Given the description of an element on the screen output the (x, y) to click on. 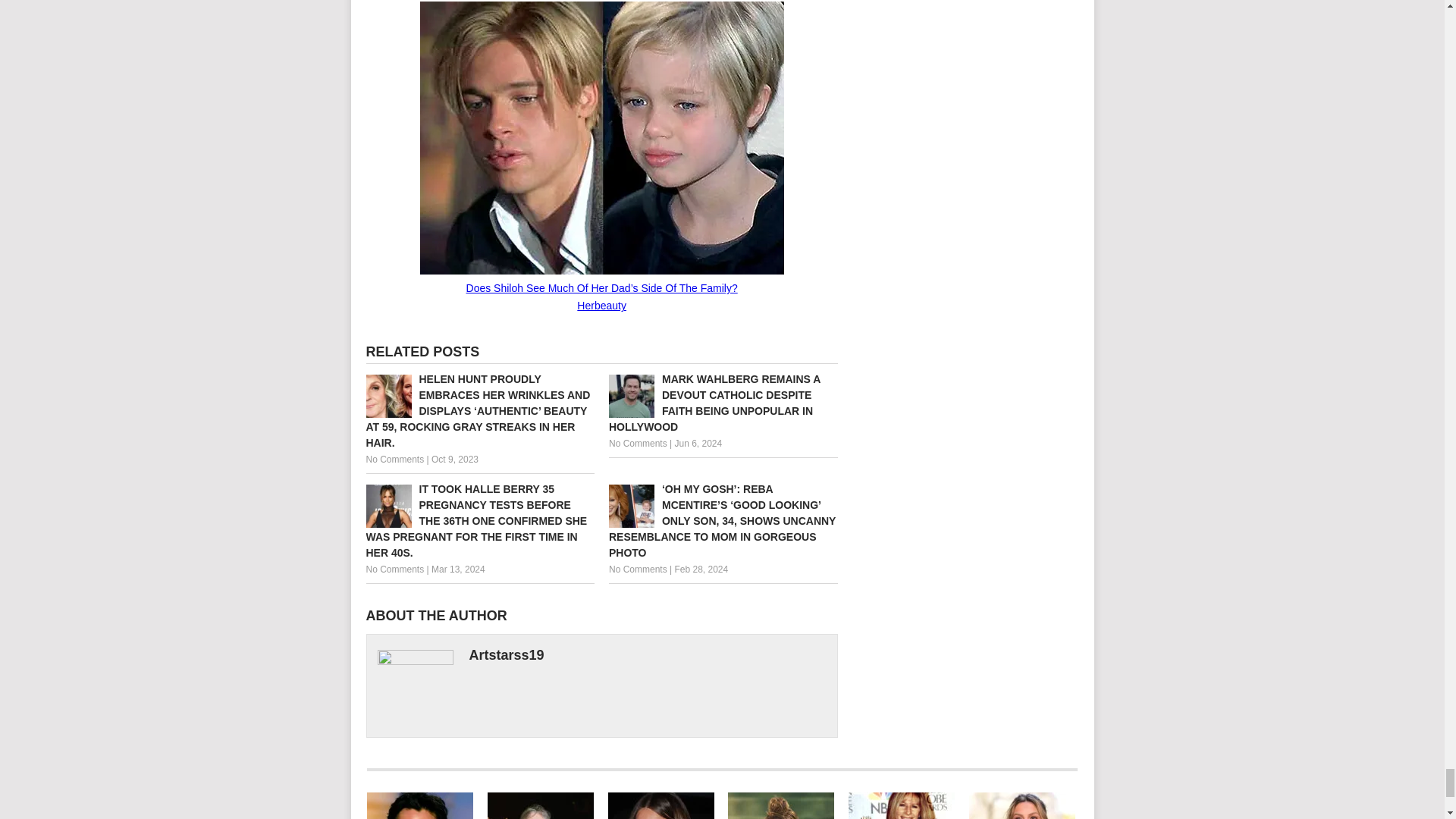
No Comments (637, 443)
No Comments (637, 569)
No Comments (394, 459)
No Comments (394, 569)
